Given the description of an element on the screen output the (x, y) to click on. 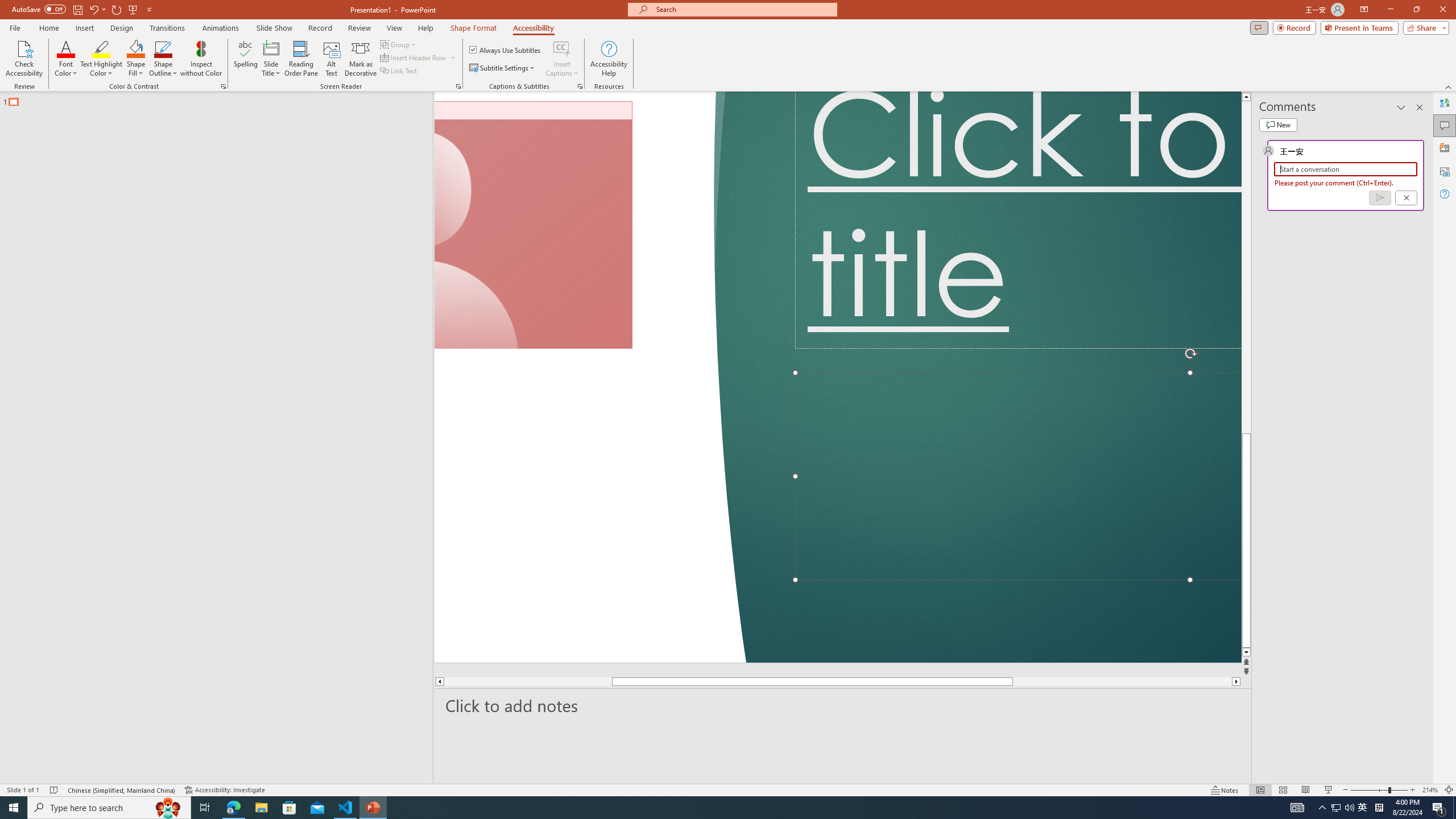
View (618, 47)
Replace... (1078, 91)
Find (1071, 72)
Asian Layout (568, 77)
Customize Quick Access Toolbar (218, 18)
Microsoft search (749, 18)
Comments (1265, 48)
Row up (1025, 76)
Strikethrough (177, 102)
Borders (599, 102)
Borders (593, 102)
